Given the description of an element on the screen output the (x, y) to click on. 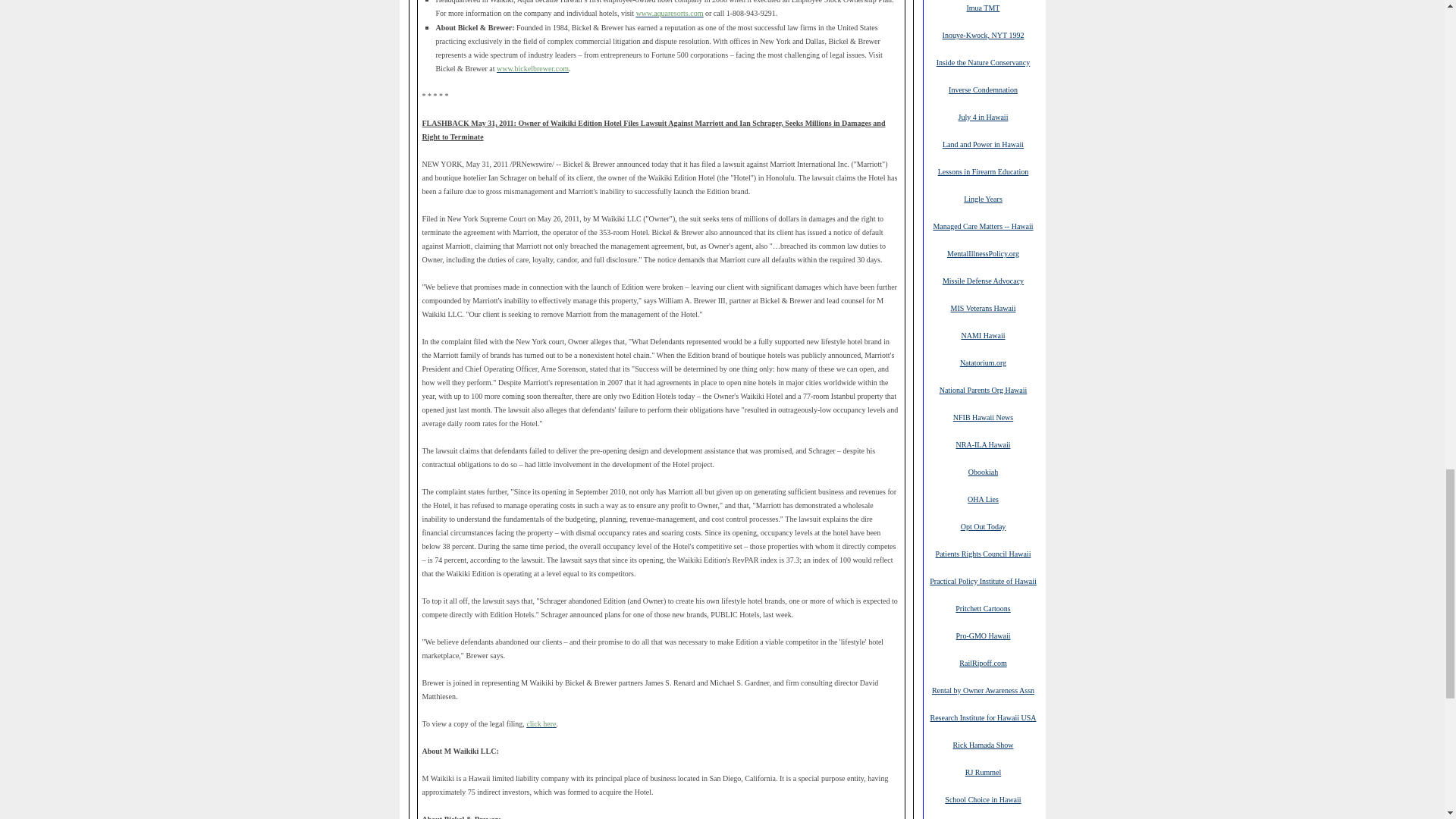
click here (540, 723)
www.aquaresorts.com (669, 13)
www.bickelbrewer.com (532, 68)
